Given the description of an element on the screen output the (x, y) to click on. 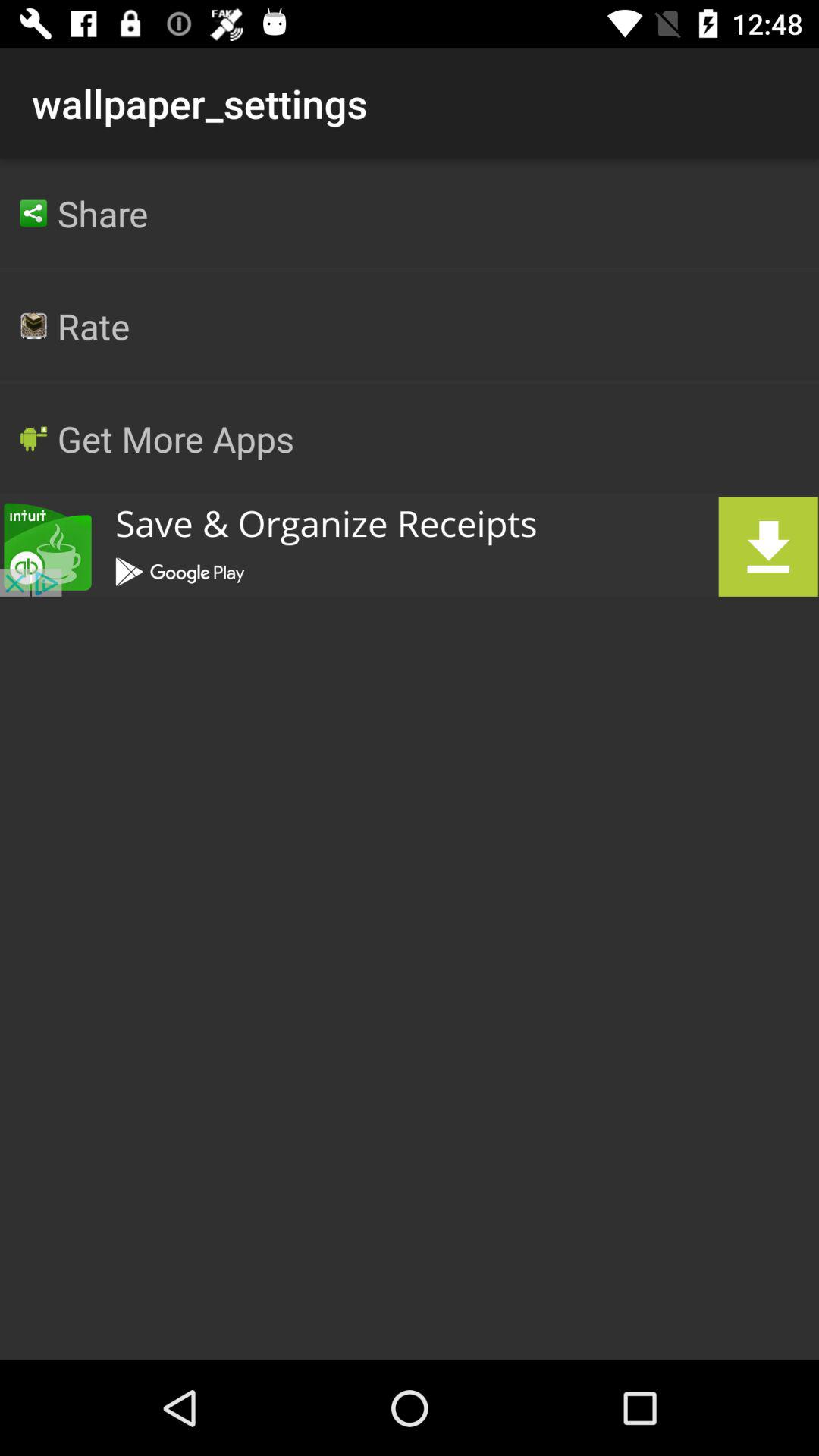
go to advertisement (409, 546)
